Given the description of an element on the screen output the (x, y) to click on. 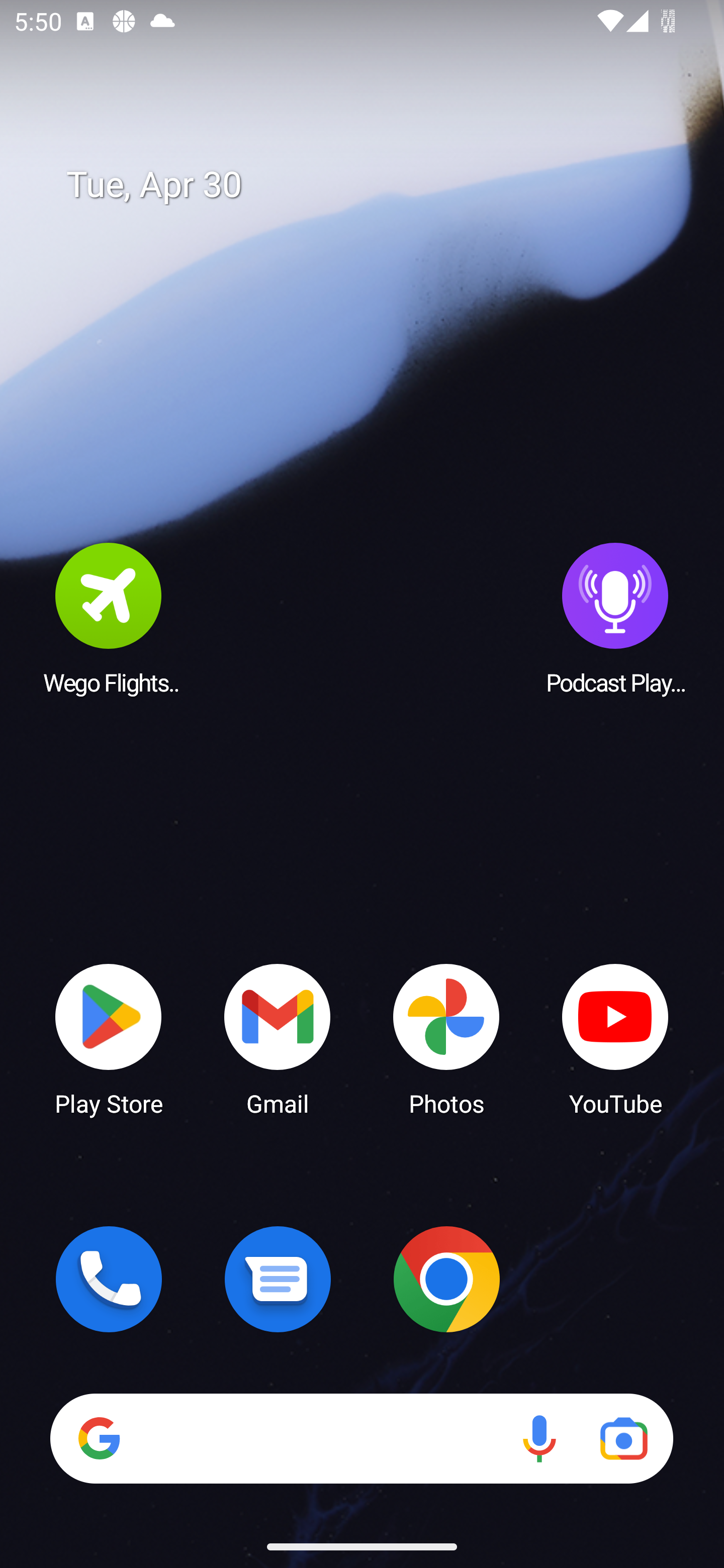
Tue, Apr 30 (375, 184)
Wego Flights & Hotels (108, 617)
Podcast Player (615, 617)
Play Store (108, 1038)
Gmail (277, 1038)
Photos (445, 1038)
YouTube (615, 1038)
Phone (108, 1279)
Messages (277, 1279)
Chrome (446, 1279)
Voice search (539, 1438)
Google Lens (623, 1438)
